Given the description of an element on the screen output the (x, y) to click on. 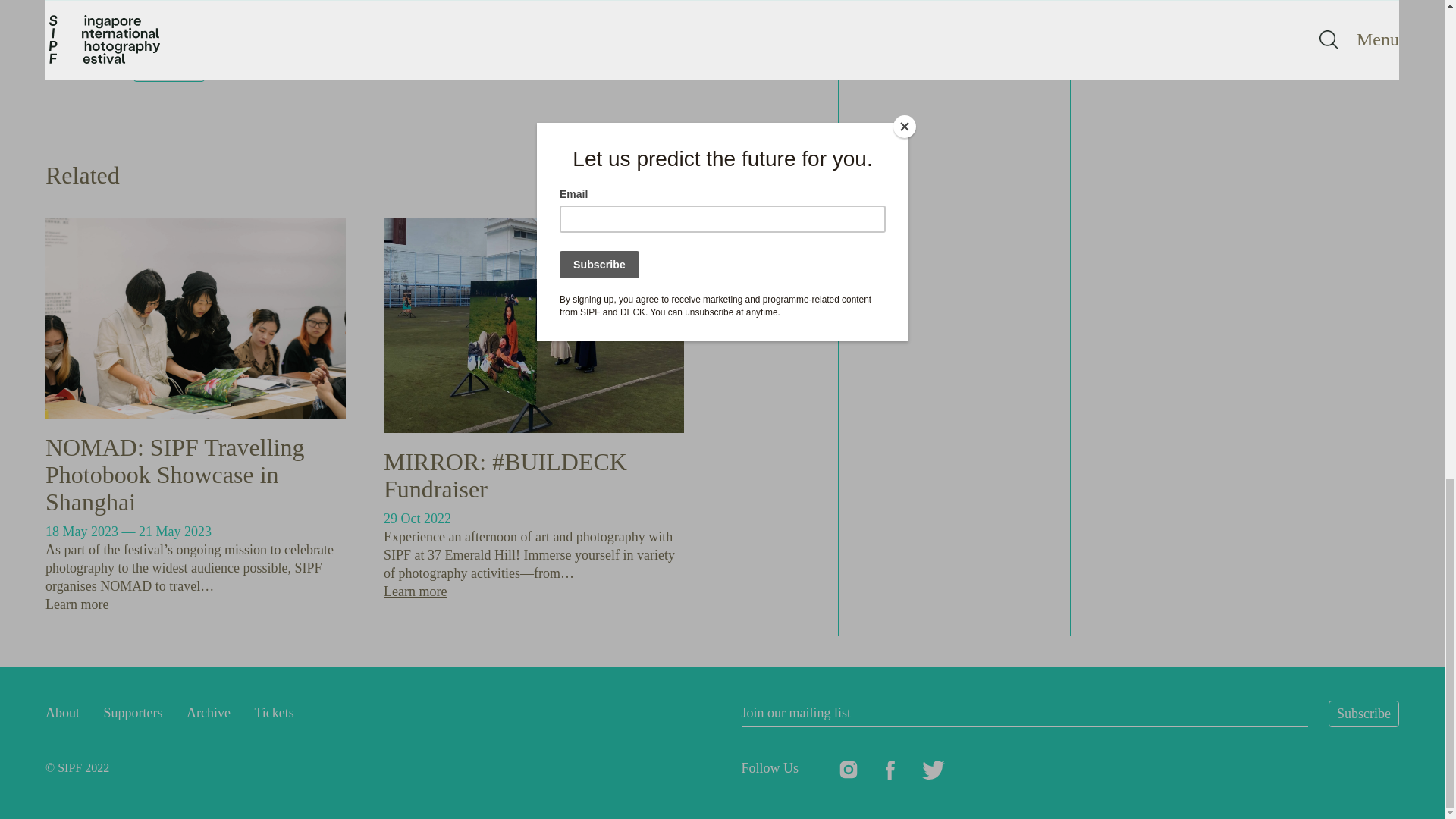
Learn more (415, 590)
Learn more (76, 604)
NOMAD: SIPF Travelling Photobook Showcase in Shanghai (174, 474)
Exhibitions (169, 68)
Subscribe (1363, 714)
Get tickets (1137, 41)
